Given the description of an element on the screen output the (x, y) to click on. 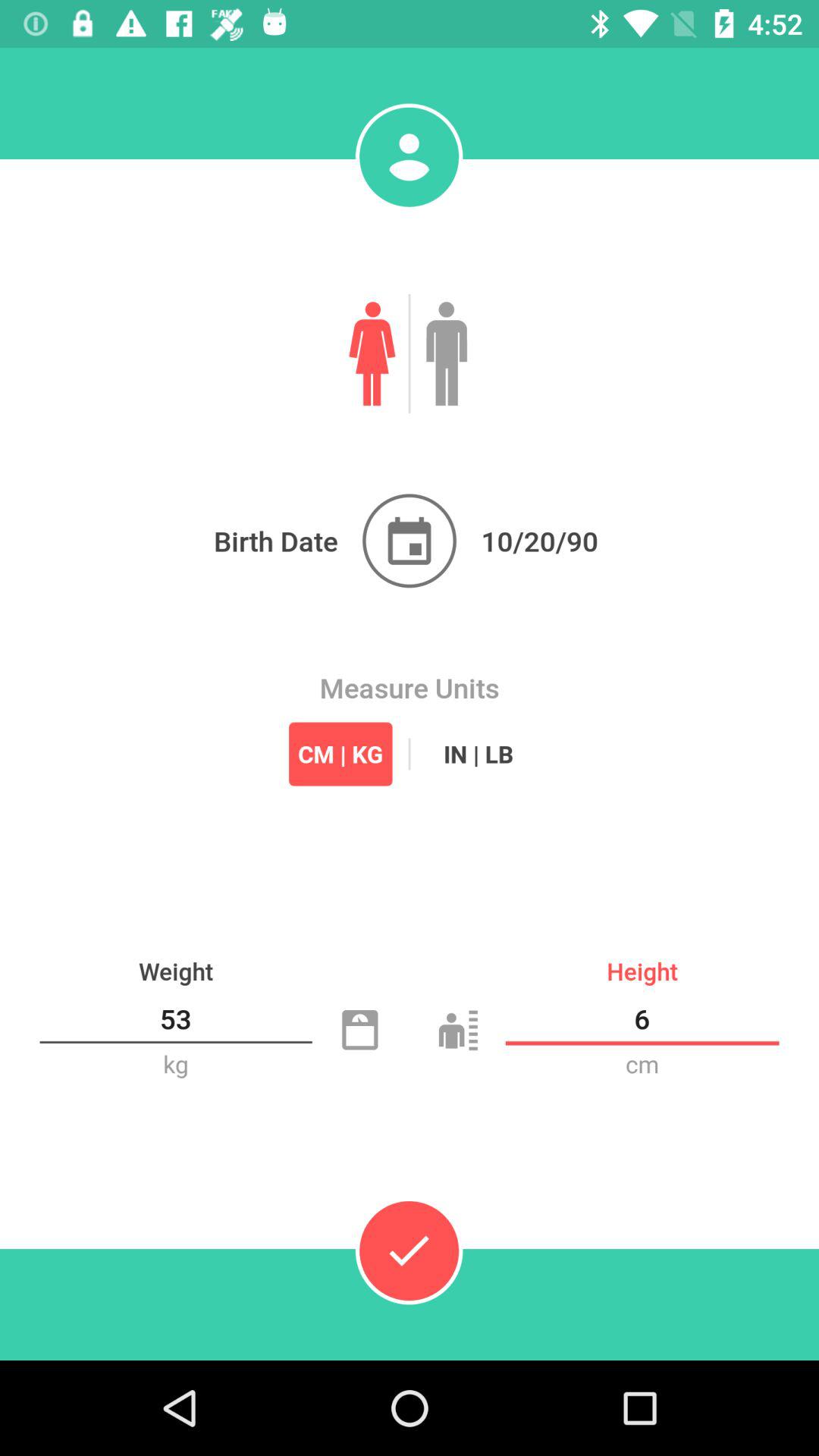
birth date type (409, 540)
